Given the description of an element on the screen output the (x, y) to click on. 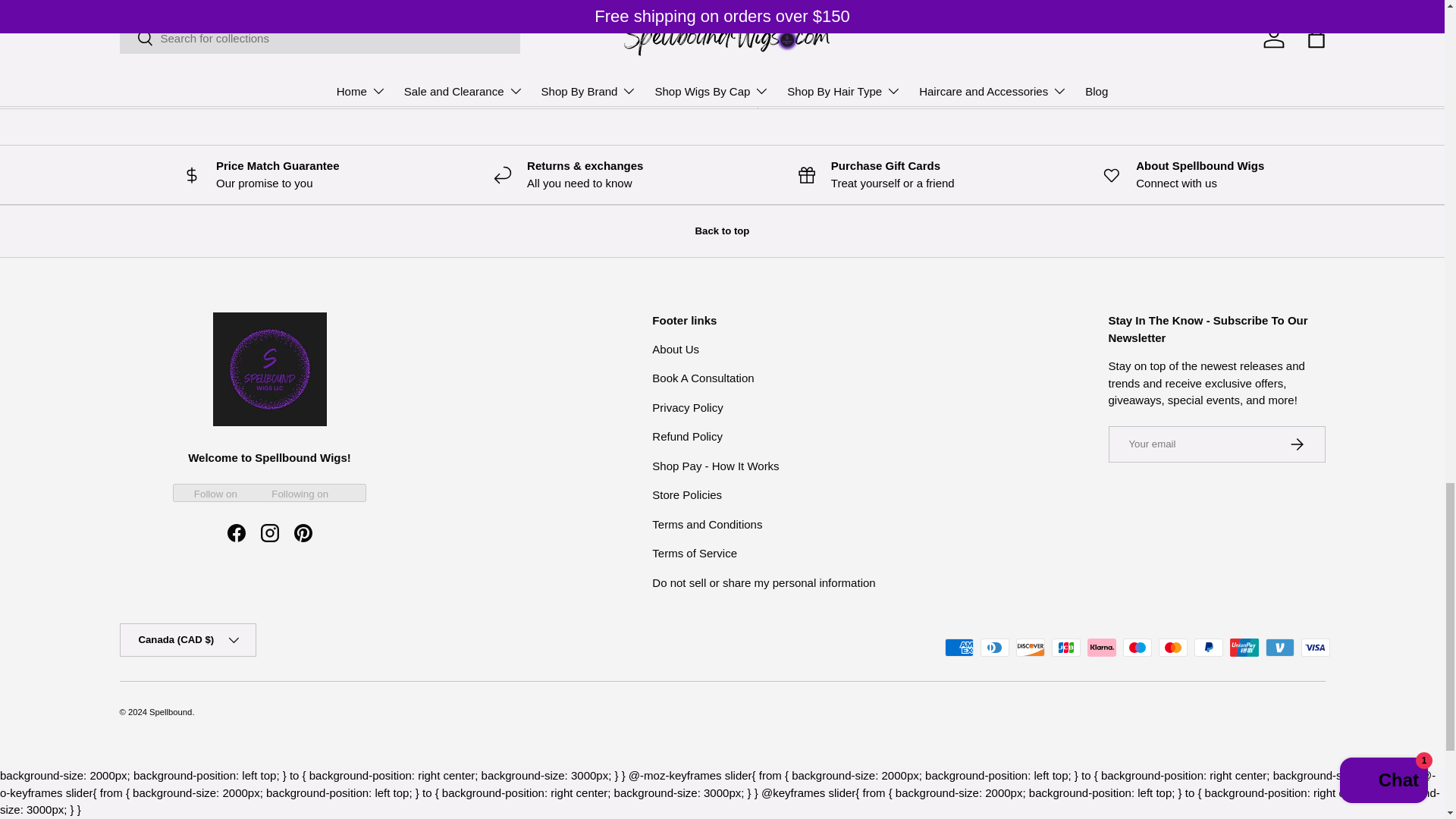
Spellbound on Facebook (236, 532)
Spellbound on Pinterest (303, 532)
Spellbound on Instagram (269, 532)
